Given the description of an element on the screen output the (x, y) to click on. 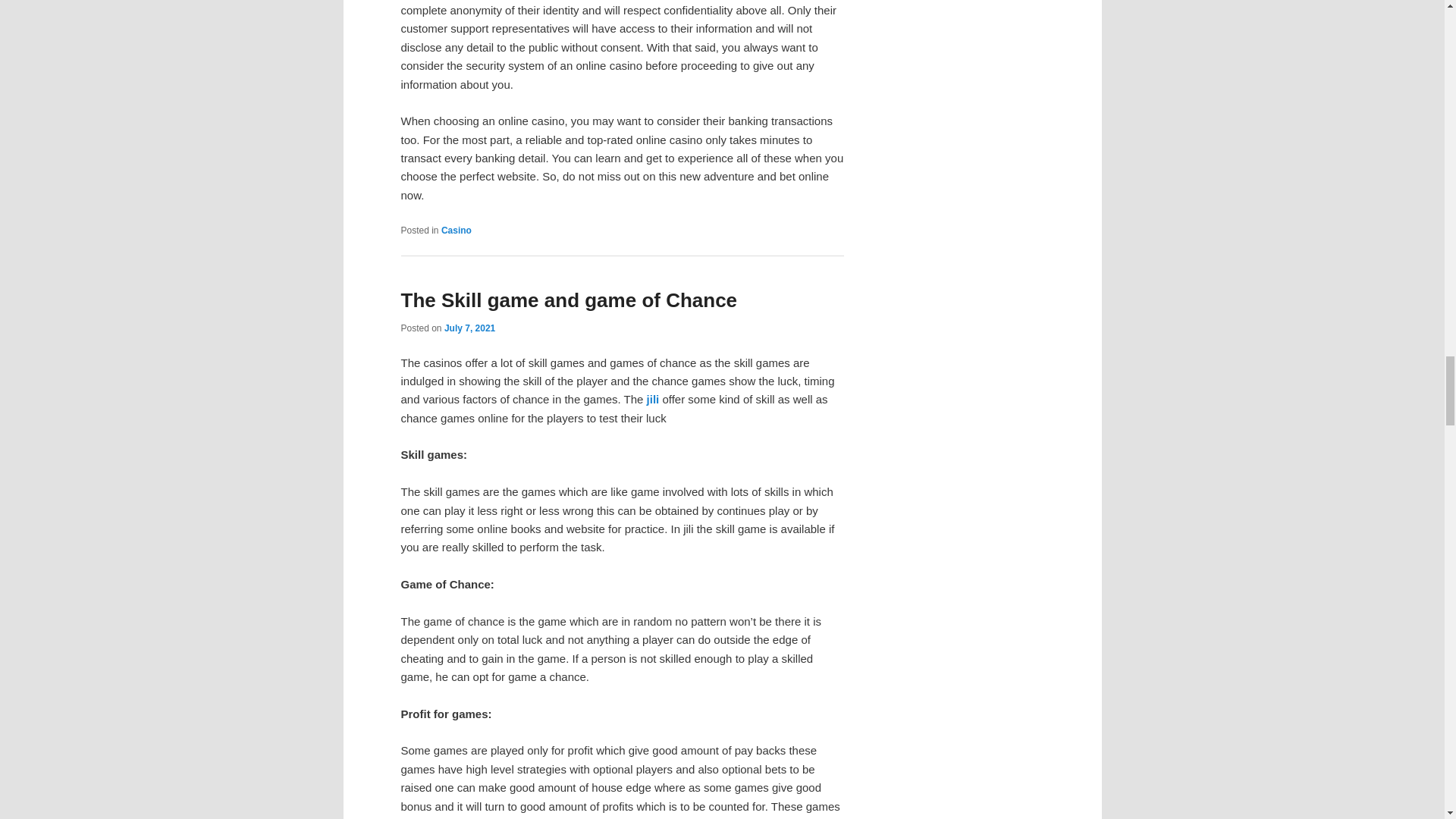
Casino (456, 230)
6:38 am (469, 327)
The Skill game and game of Chance (568, 300)
jili (651, 399)
July 7, 2021 (469, 327)
